Given the description of an element on the screen output the (x, y) to click on. 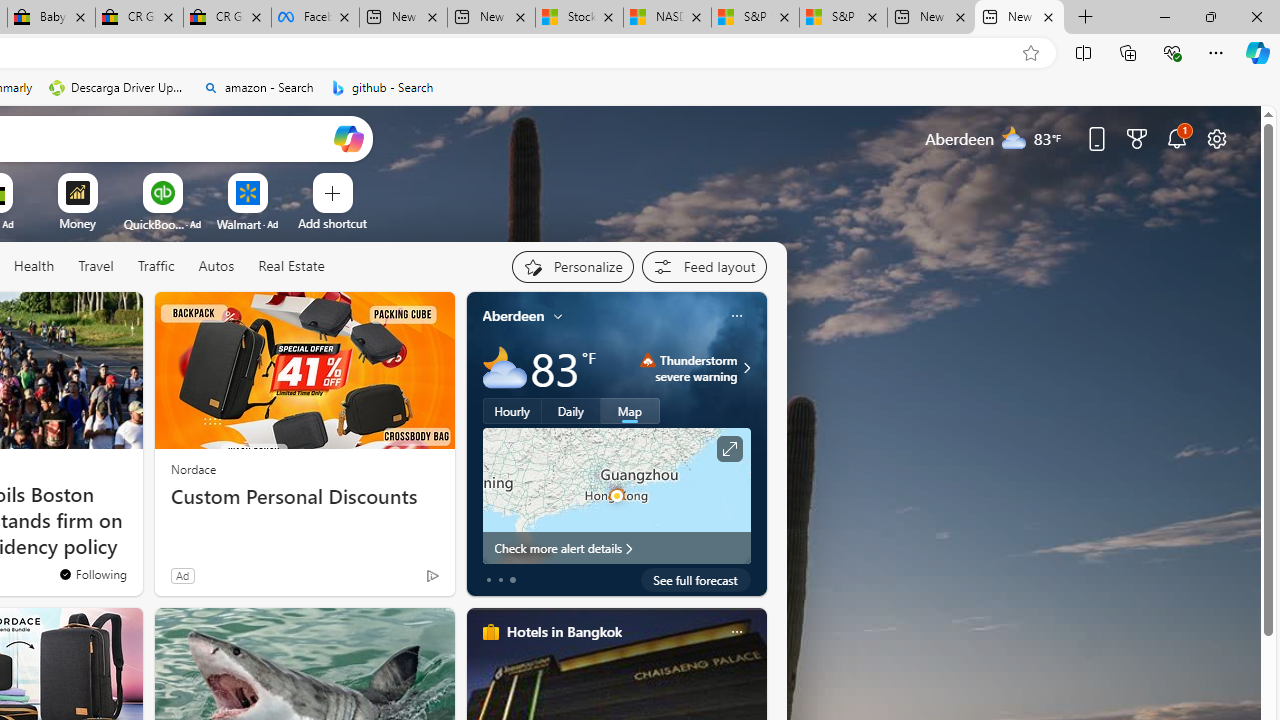
Class: weather-arrow-glyph (746, 367)
Personalize your feed" (571, 266)
My location (558, 315)
amazon - Search (258, 88)
tab-2 (511, 579)
tab-1 (500, 579)
github - Search (381, 88)
Custom Personal Discounts (304, 497)
Open Copilot (347, 138)
Open Copilot (347, 138)
Ad (182, 575)
